Given the description of an element on the screen output the (x, y) to click on. 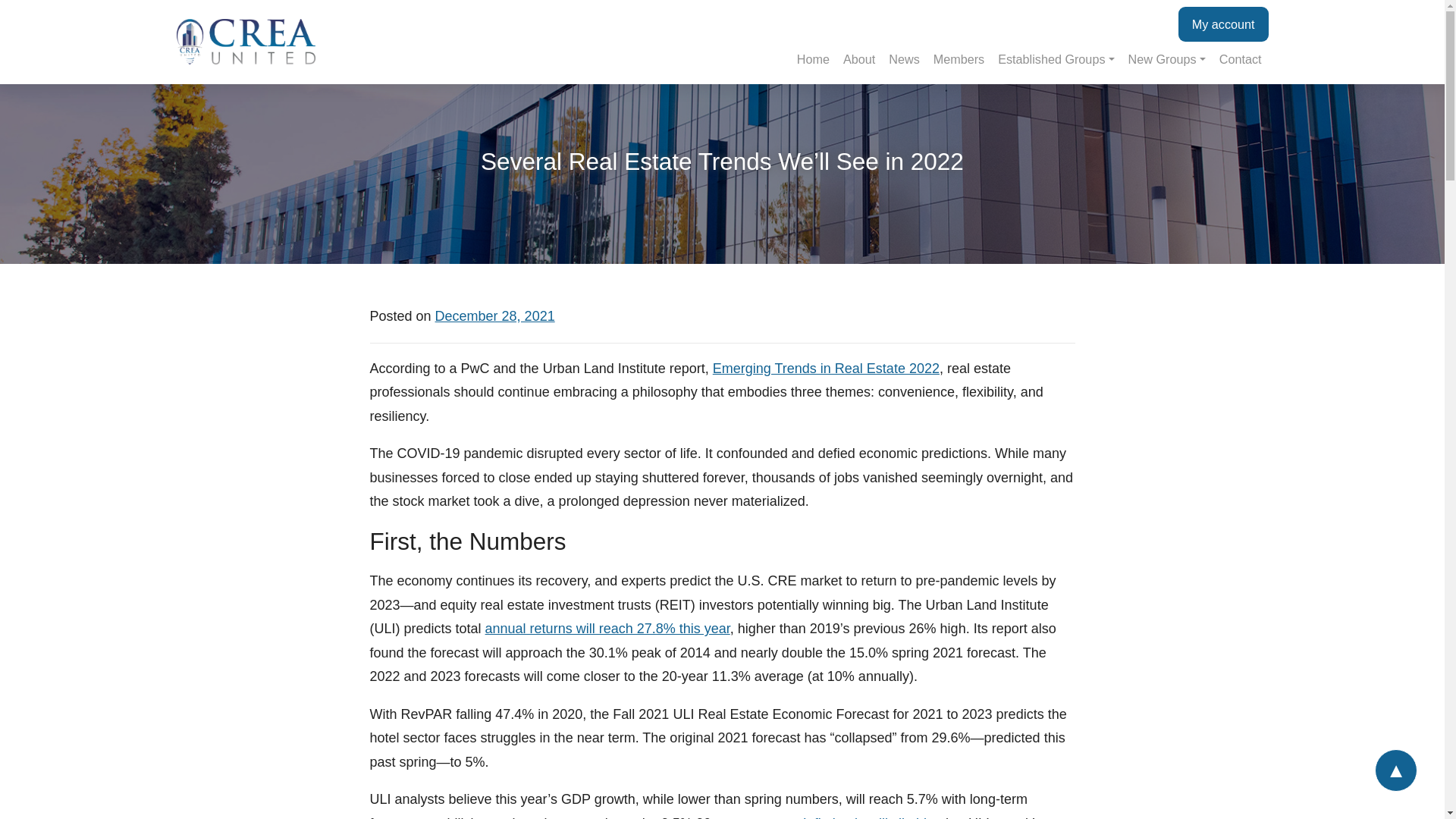
My account (1222, 23)
New Groups (1166, 58)
Established Groups (1056, 58)
About (858, 58)
Home (812, 58)
Contact (1240, 58)
Established Groups (1056, 58)
Inflation is still climbing (872, 817)
Emerging Trends in Real Estate 2022 (826, 368)
Contact (1240, 58)
News (904, 58)
My account (1222, 23)
Members (958, 58)
About (858, 58)
